Given the description of an element on the screen output the (x, y) to click on. 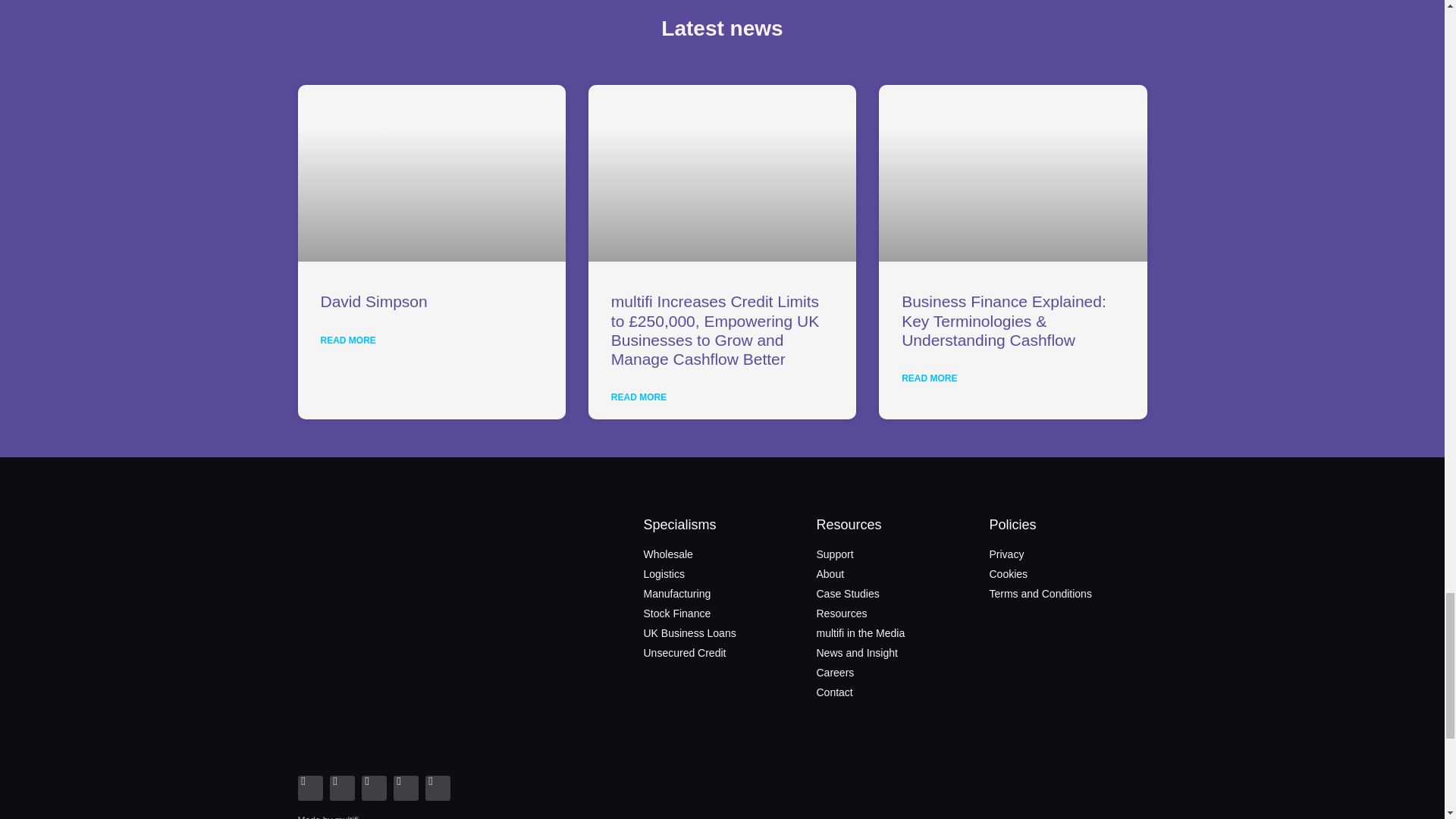
READ MORE (638, 397)
READ MORE (347, 340)
READ MORE (928, 377)
David Simpson (373, 301)
